Given the description of an element on the screen output the (x, y) to click on. 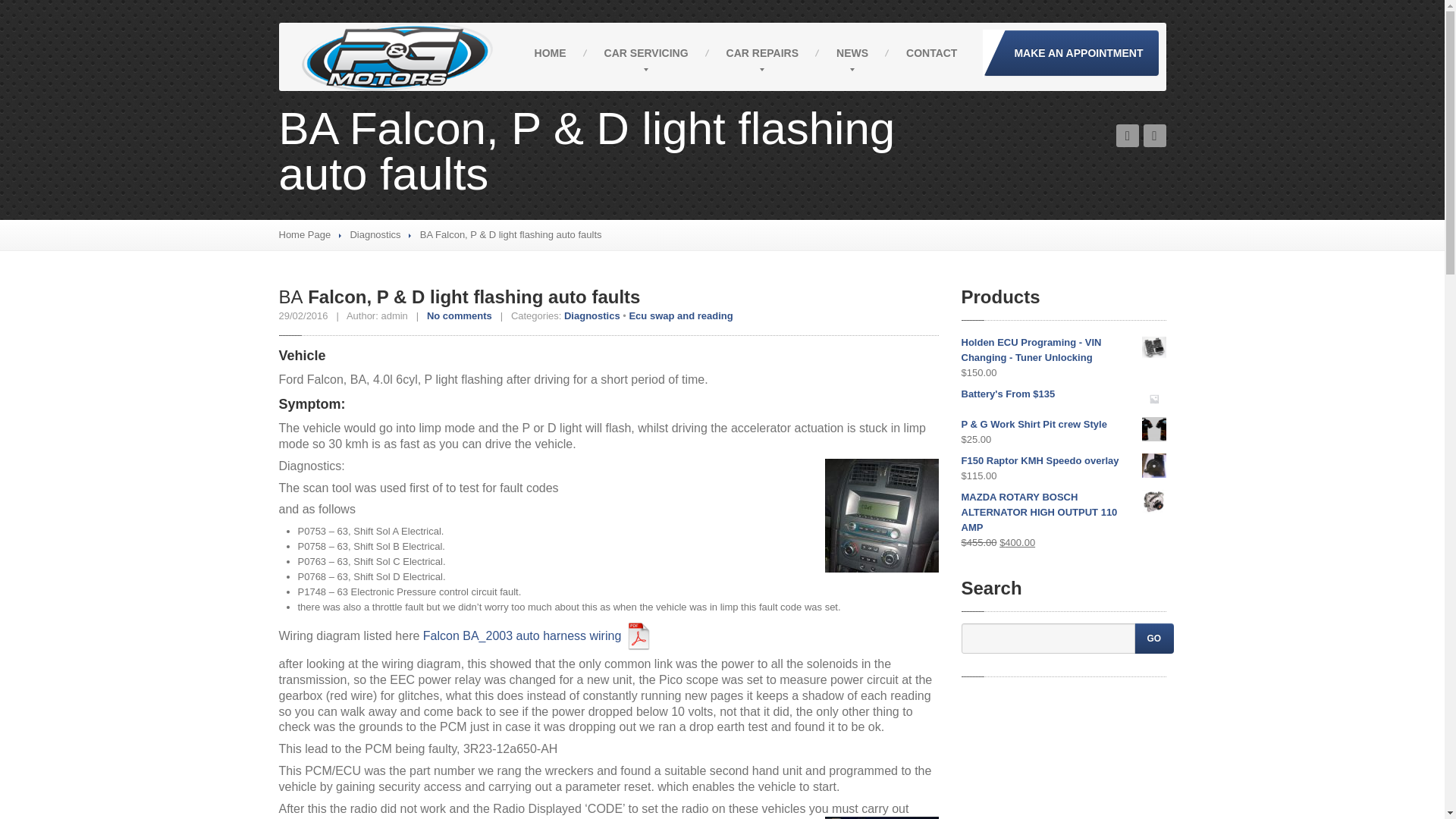
Advertisement (1063, 753)
Home Page (305, 234)
CAR REPAIRS (761, 52)
HOME (550, 52)
CAR SERVICING (646, 52)
MAKE AN APPOINTMENT (1070, 53)
NEWS (851, 52)
CONTACT (930, 52)
Diagnostics (374, 234)
